Given the description of an element on the screen output the (x, y) to click on. 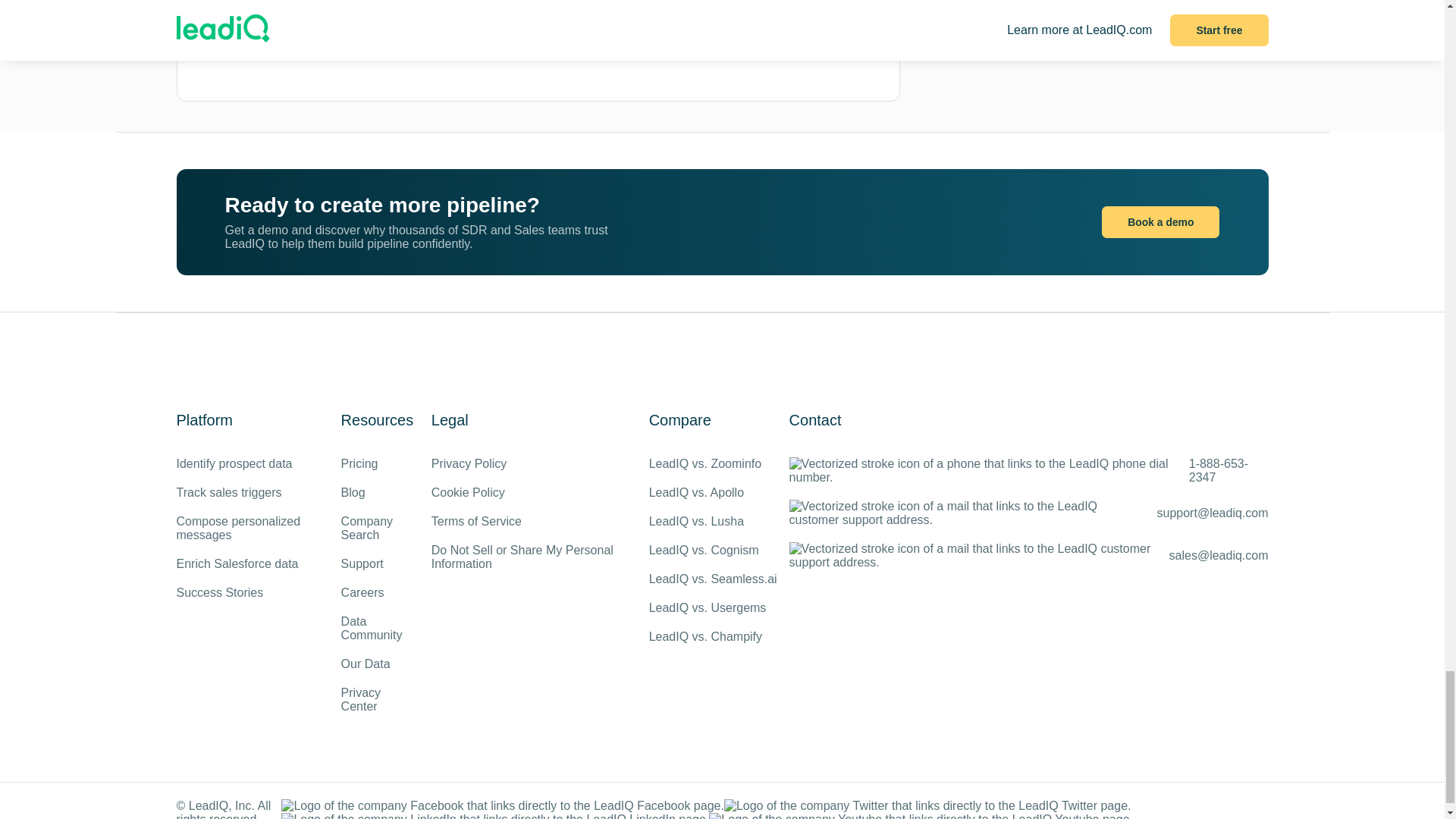
Find more Colgate-Palmolive email formats (601, 51)
